Given the description of an element on the screen output the (x, y) to click on. 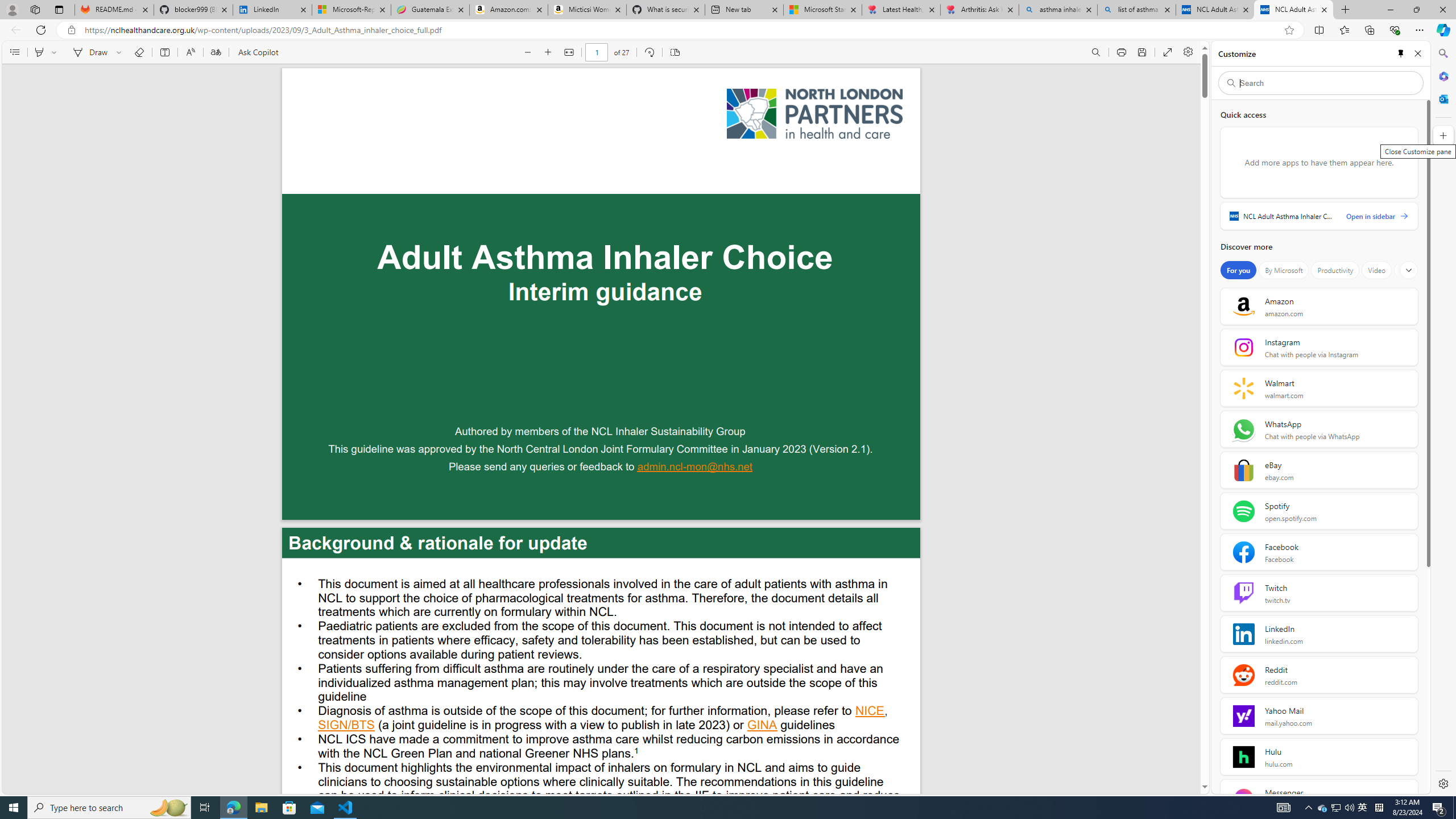
Select a highlight color (56, 52)
NICE (870, 711)
For you (1238, 270)
Show more (1408, 270)
Zoom out (Ctrl+Minus key) (527, 52)
Zoom in (Ctrl+Plus key) (548, 52)
PDF bar (601, 51)
Settings and more (1187, 52)
